Given the description of an element on the screen output the (x, y) to click on. 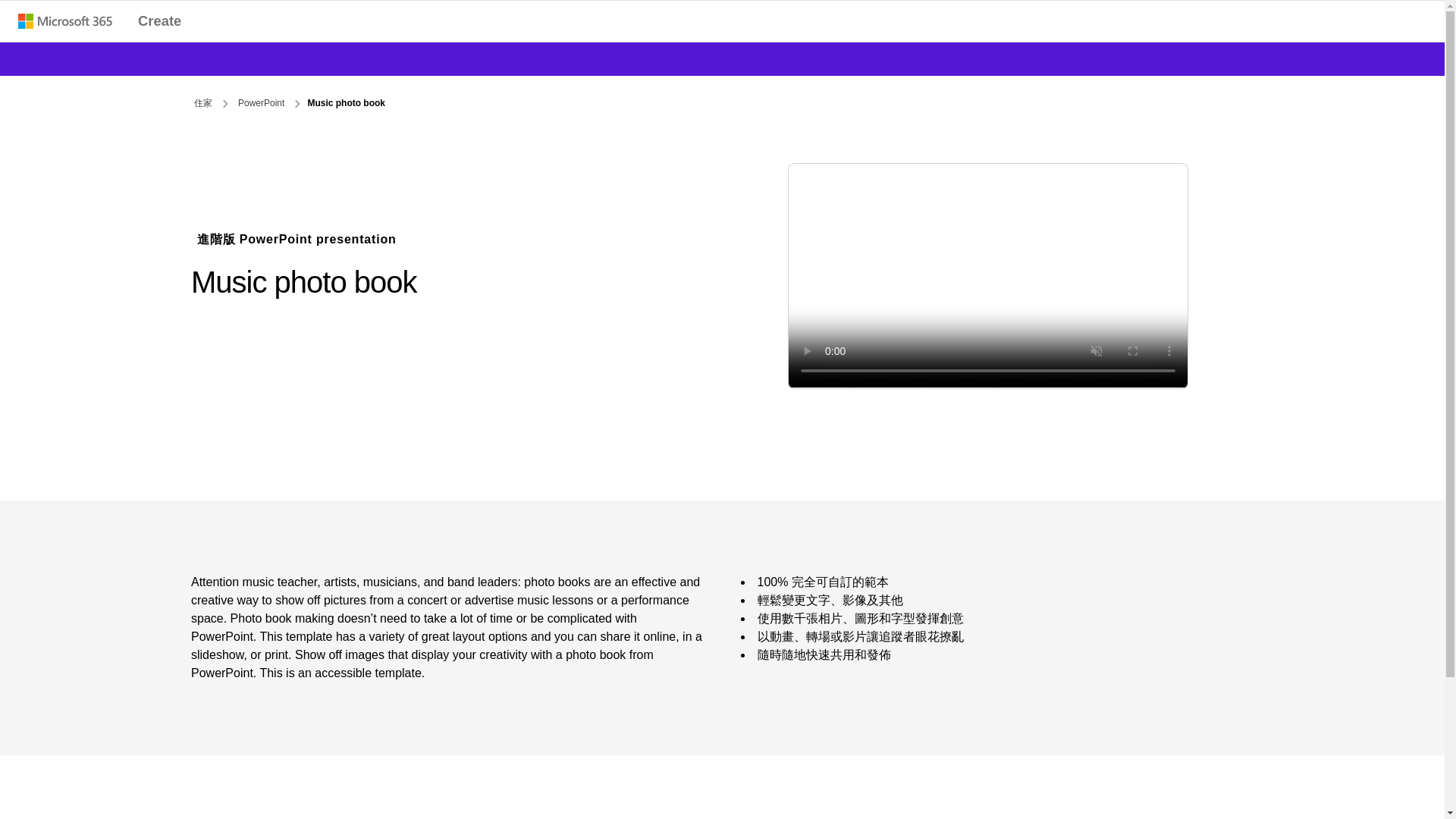
Music photo book  blue modern simple (988, 275)
Create (159, 21)
